Given the description of an element on the screen output the (x, y) to click on. 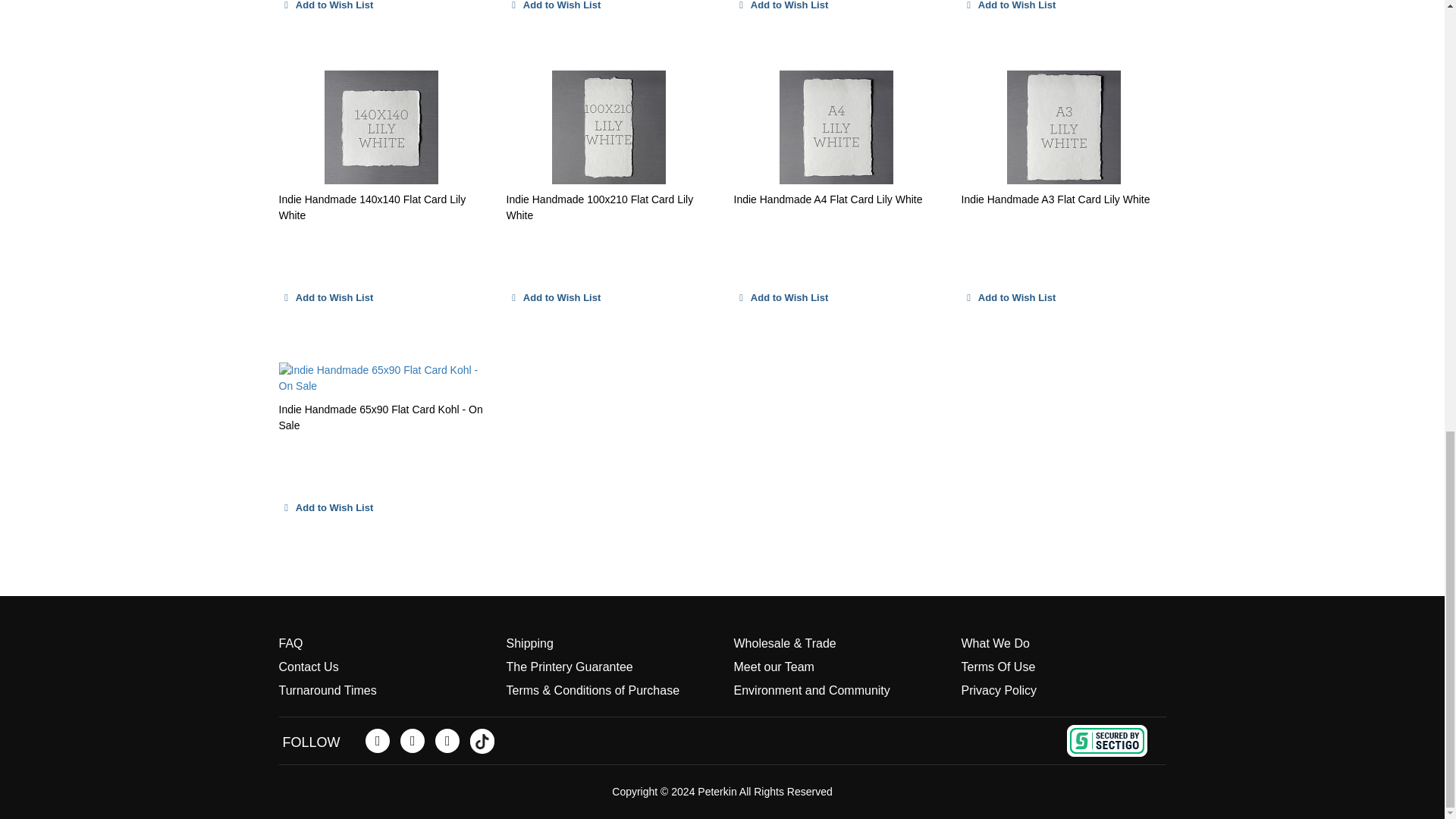
Like Us on Facebook (377, 740)
Subscribe to our Channel (412, 740)
Follow Us on Instagram (447, 740)
